Given the description of an element on the screen output the (x, y) to click on. 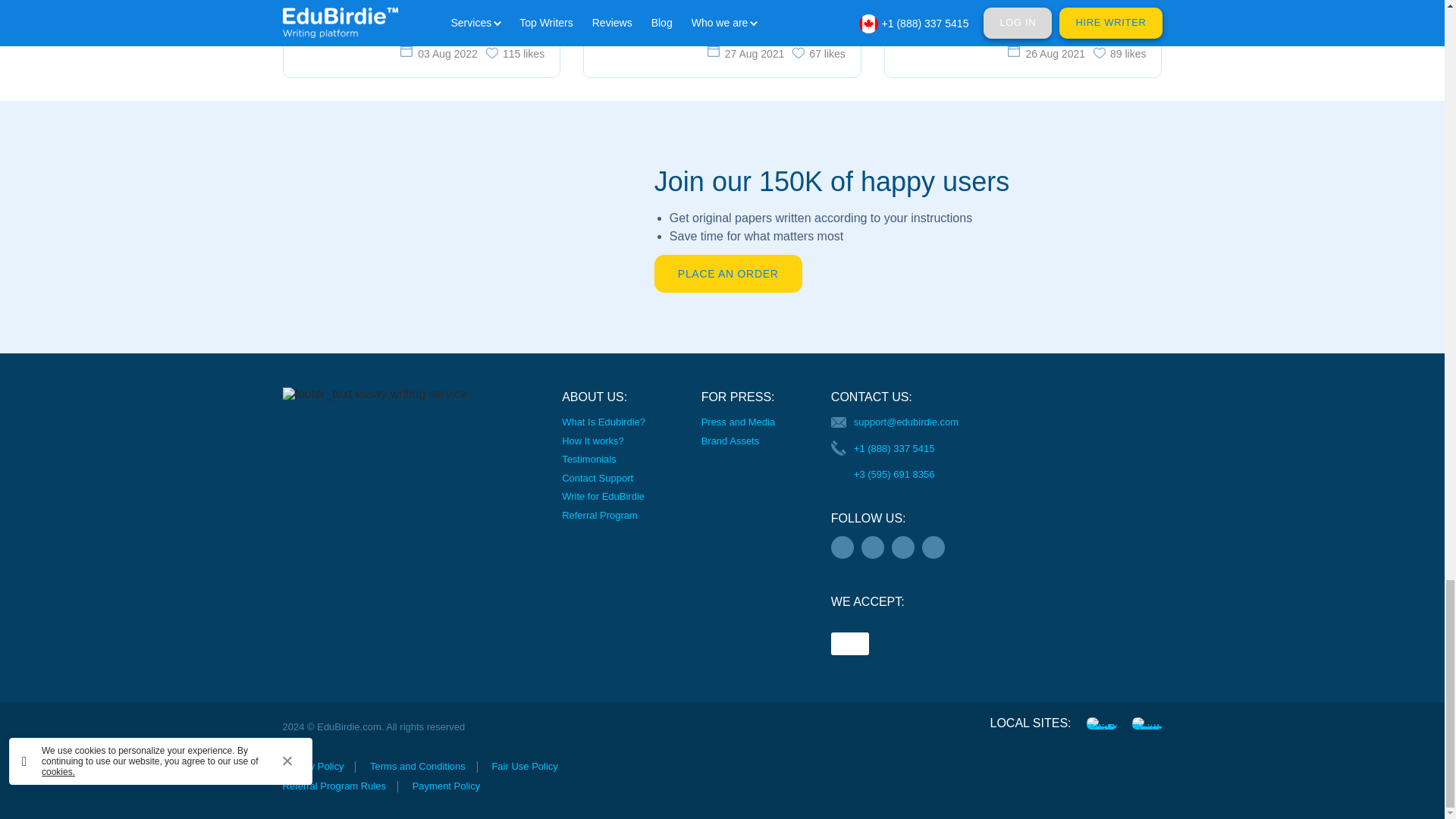
High Quality Custom Essay Writing Service - EduBirdie.com (1101, 723)
